Given the description of an element on the screen output the (x, y) to click on. 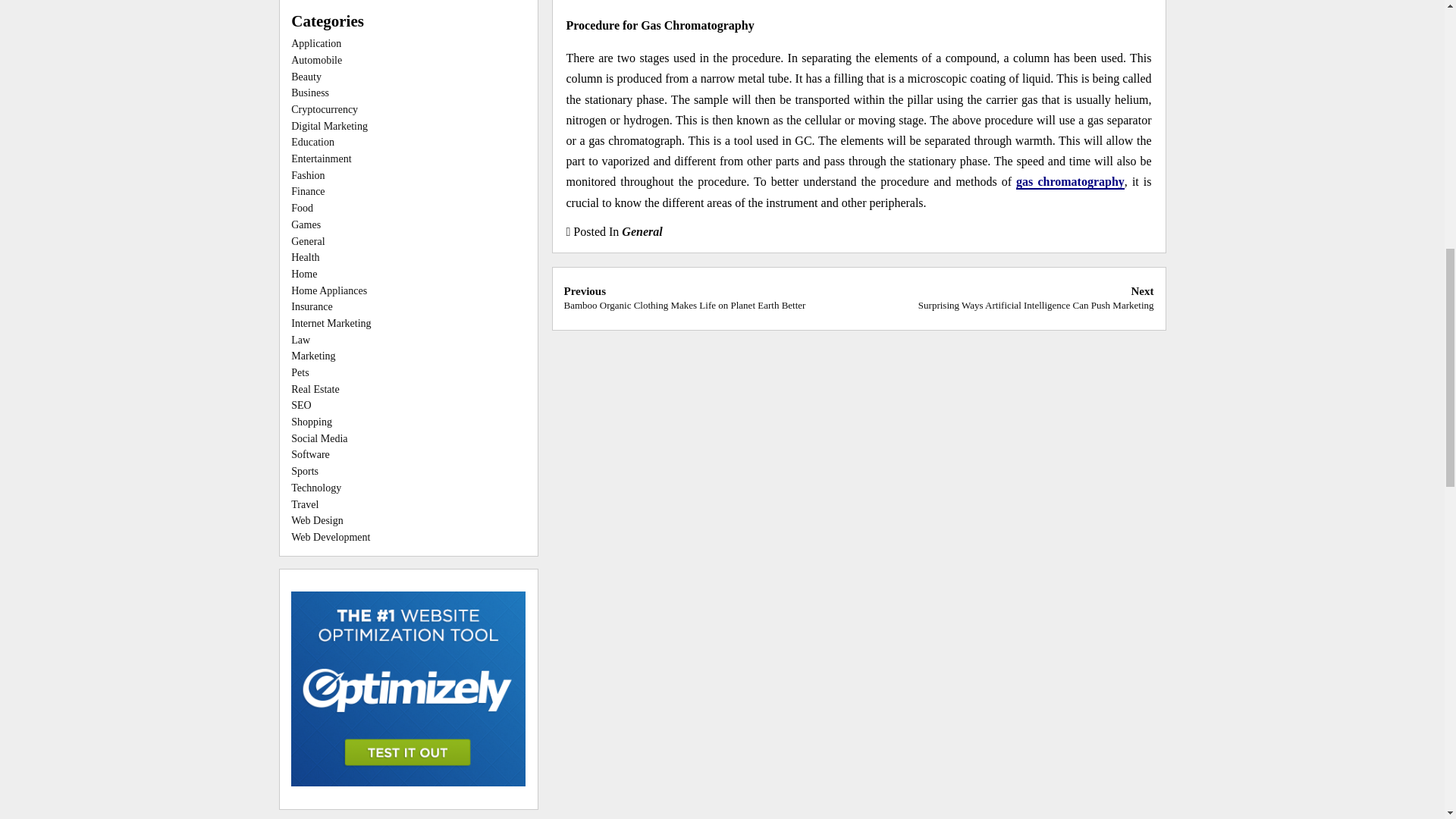
General (641, 231)
Shopping (311, 421)
Fashion (307, 174)
Cryptocurrency (324, 109)
Software (310, 454)
Application (315, 43)
Entertainment (320, 158)
SEO (301, 405)
Internet Marketing (331, 323)
Digital Marketing (329, 125)
Health (304, 256)
Real Estate (315, 389)
Sports (304, 471)
Insurance (311, 306)
